Given the description of an element on the screen output the (x, y) to click on. 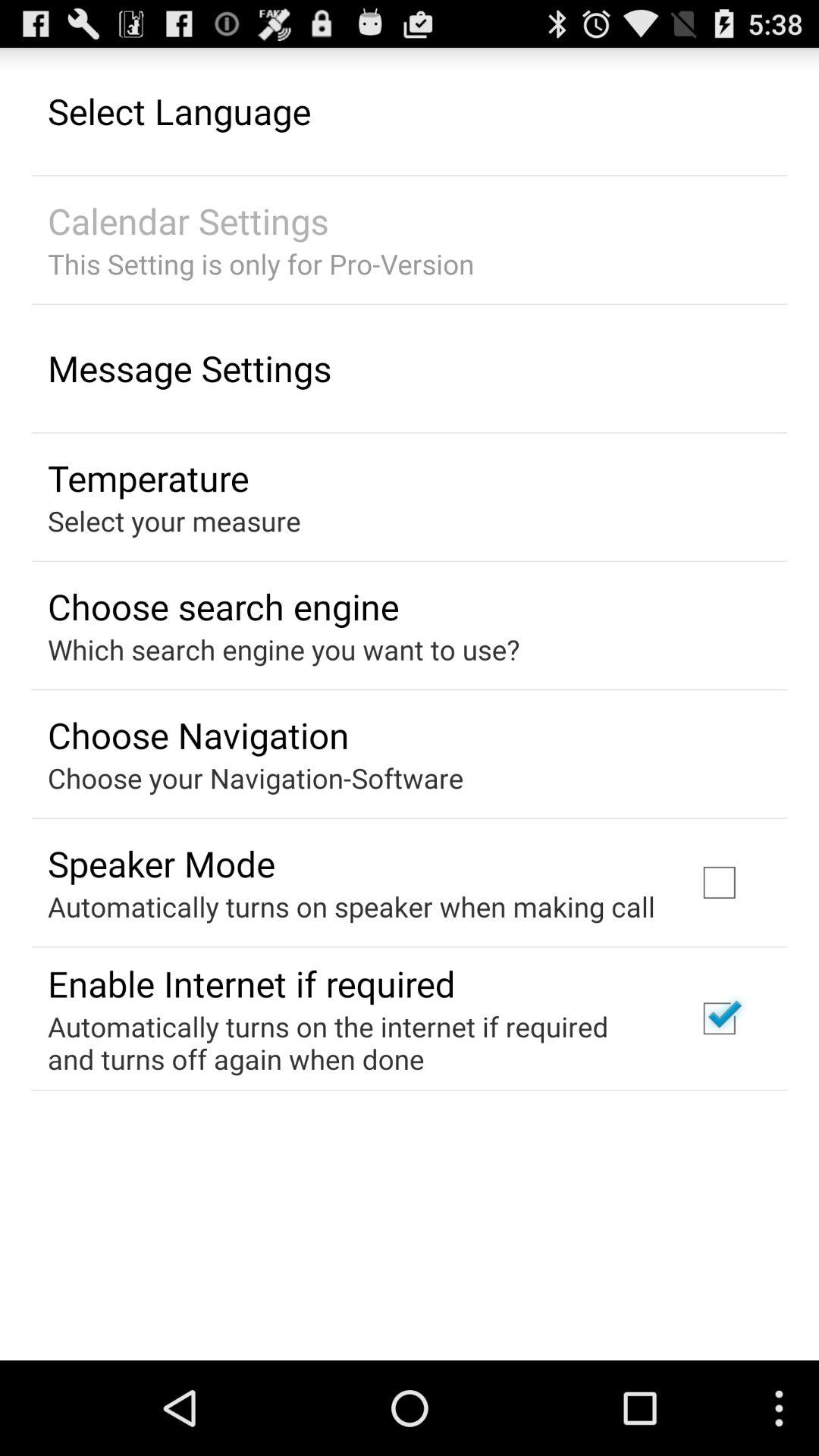
flip until the select your measure item (173, 520)
